Given the description of an element on the screen output the (x, y) to click on. 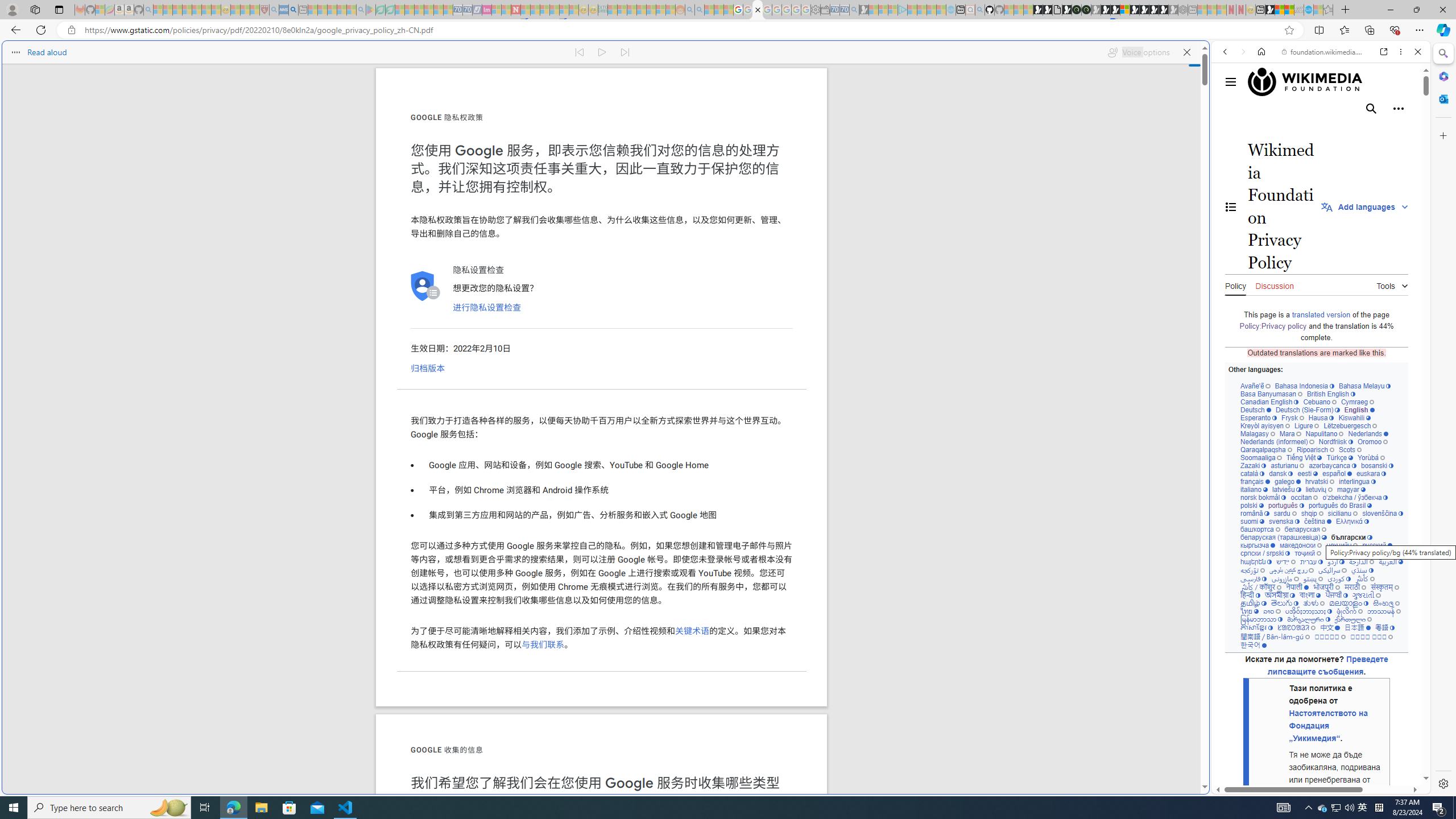
Wikimedia Foundation Governance Wiki (1321, 81)
Zazaki (1253, 465)
